Given the description of an element on the screen output the (x, y) to click on. 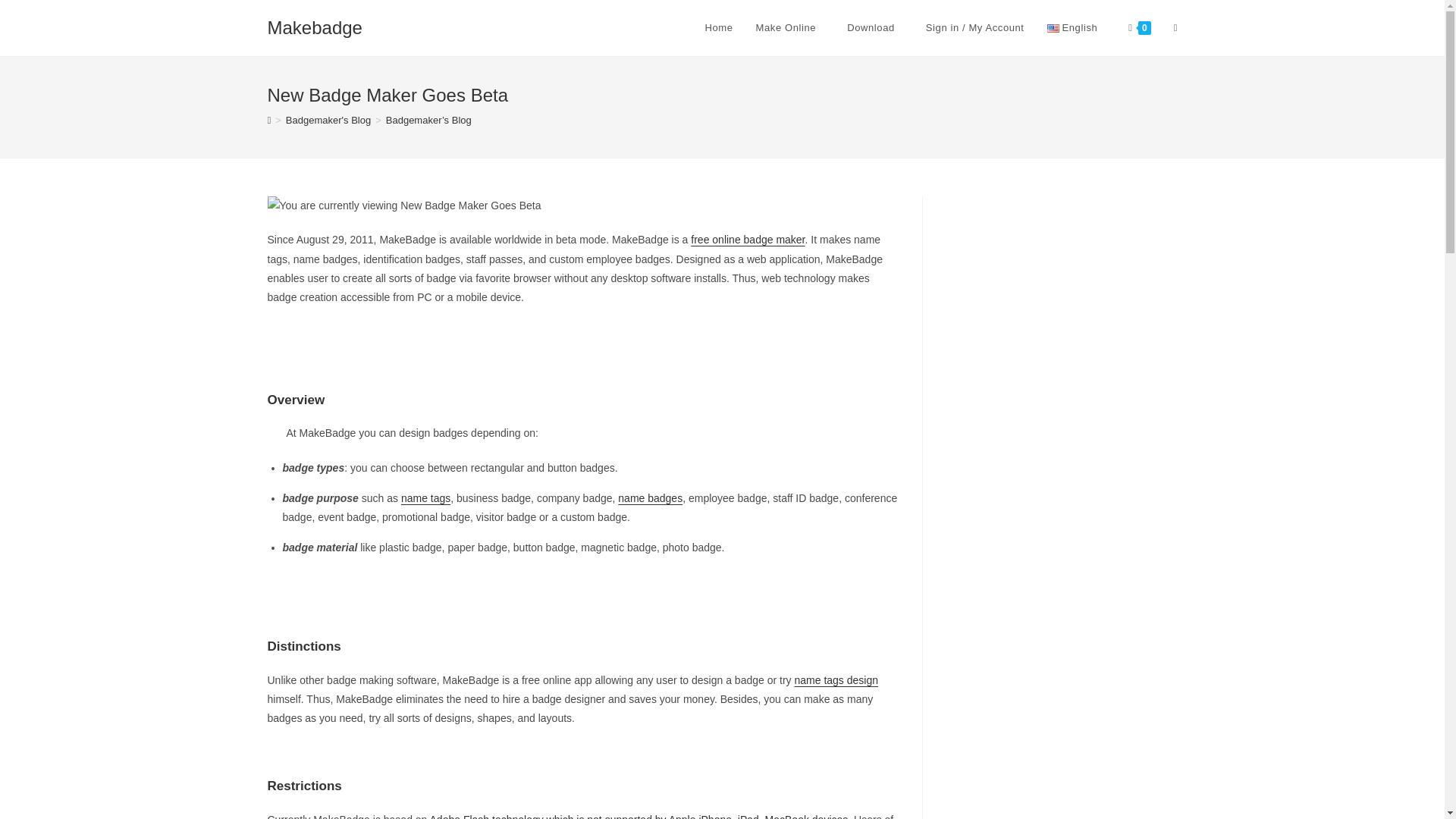
free online badge maker (747, 239)
name tags design (835, 680)
free online badge maker (747, 239)
name tags (425, 498)
Download (874, 28)
Home (718, 28)
Makebadge (313, 27)
name badges (649, 498)
name tags (425, 498)
English (1076, 28)
name tags design (835, 680)
Badgemaker's Blog (328, 120)
0 (1138, 28)
name badges (649, 498)
Toggle website search (1175, 28)
